Given the description of an element on the screen output the (x, y) to click on. 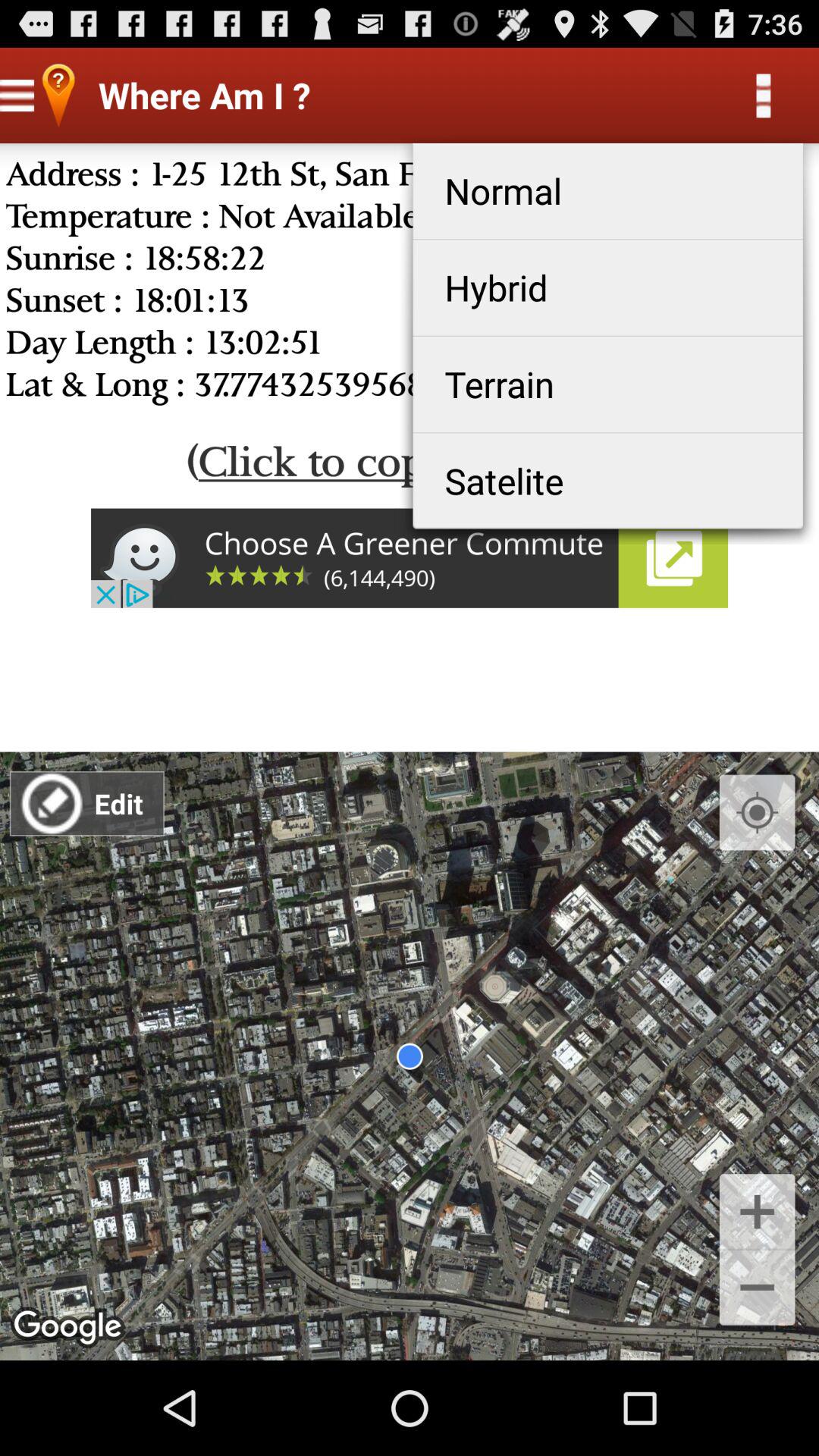
click the  button (757, 1209)
